Given the description of an element on the screen output the (x, y) to click on. 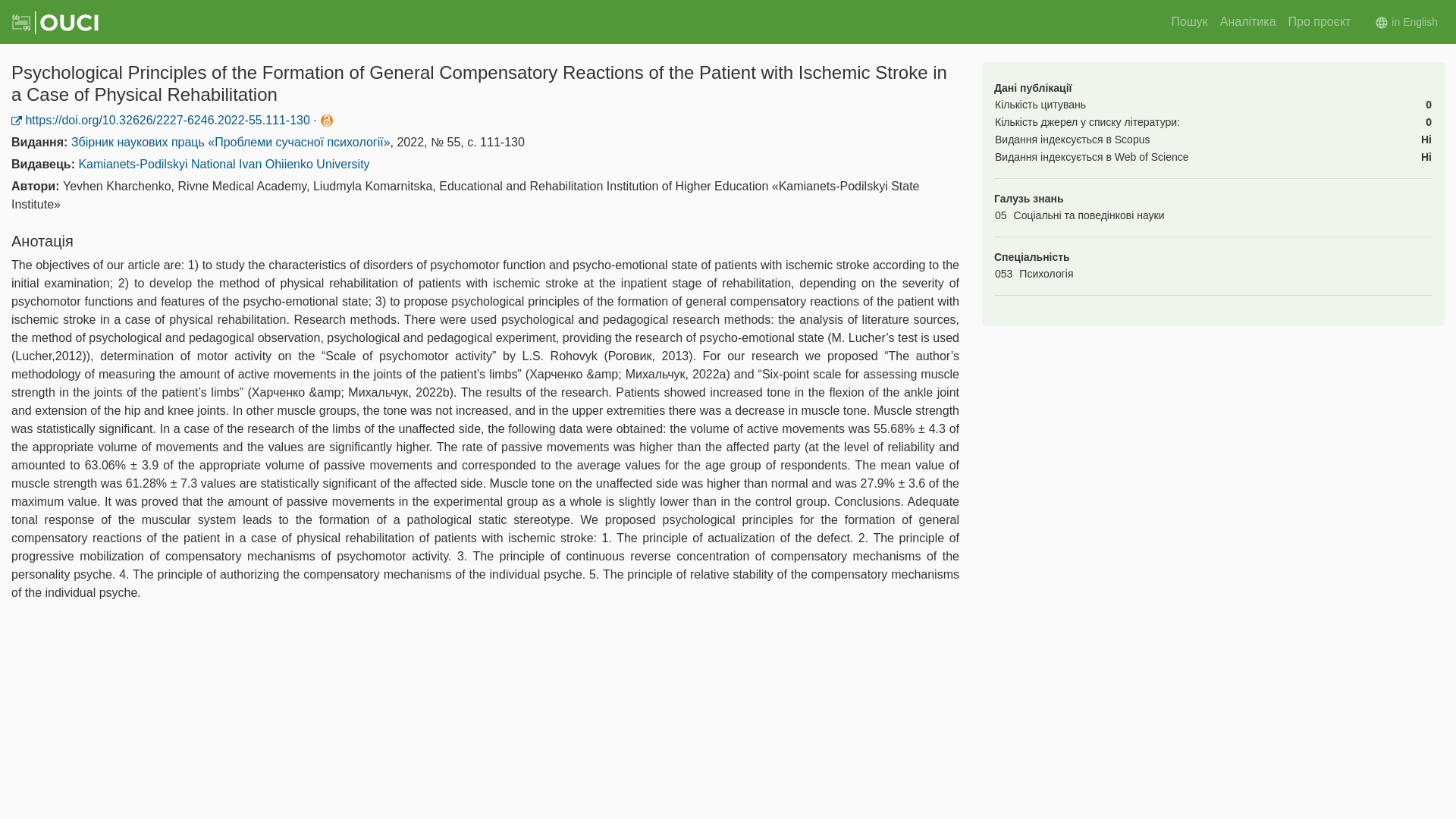
in English (1406, 22)
Kamianets-Podilskyi National Ivan Ohiienko University (223, 164)
